Given the description of an element on the screen output the (x, y) to click on. 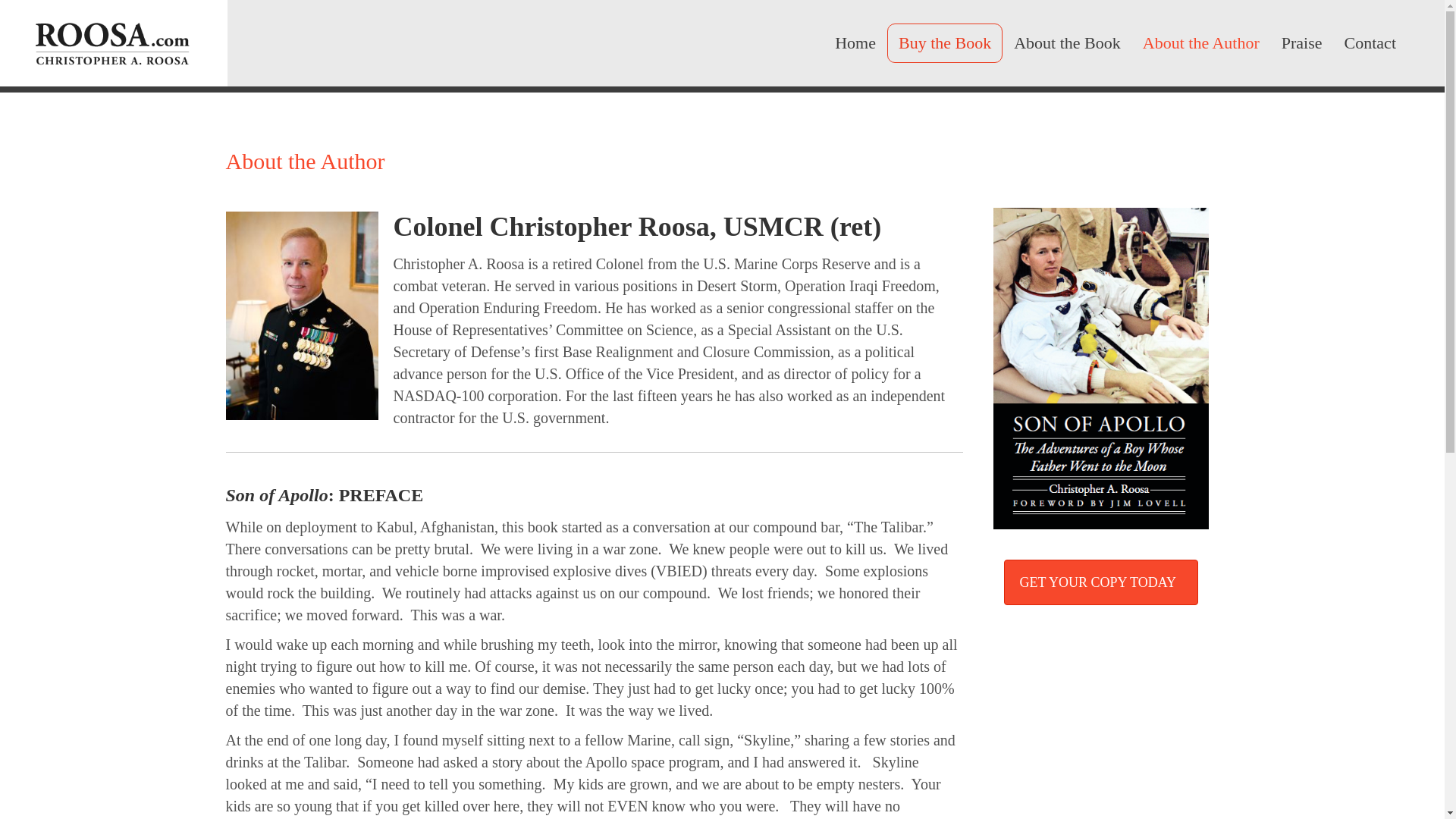
About the Book (1067, 43)
About the Author (1200, 43)
GET YOUR COPY TODAY   (1101, 582)
Buy the Book (944, 43)
Praise (1302, 43)
Home (855, 43)
roosa-logo-black-wbg (113, 43)
Contact (1369, 43)
